Given the description of an element on the screen output the (x, y) to click on. 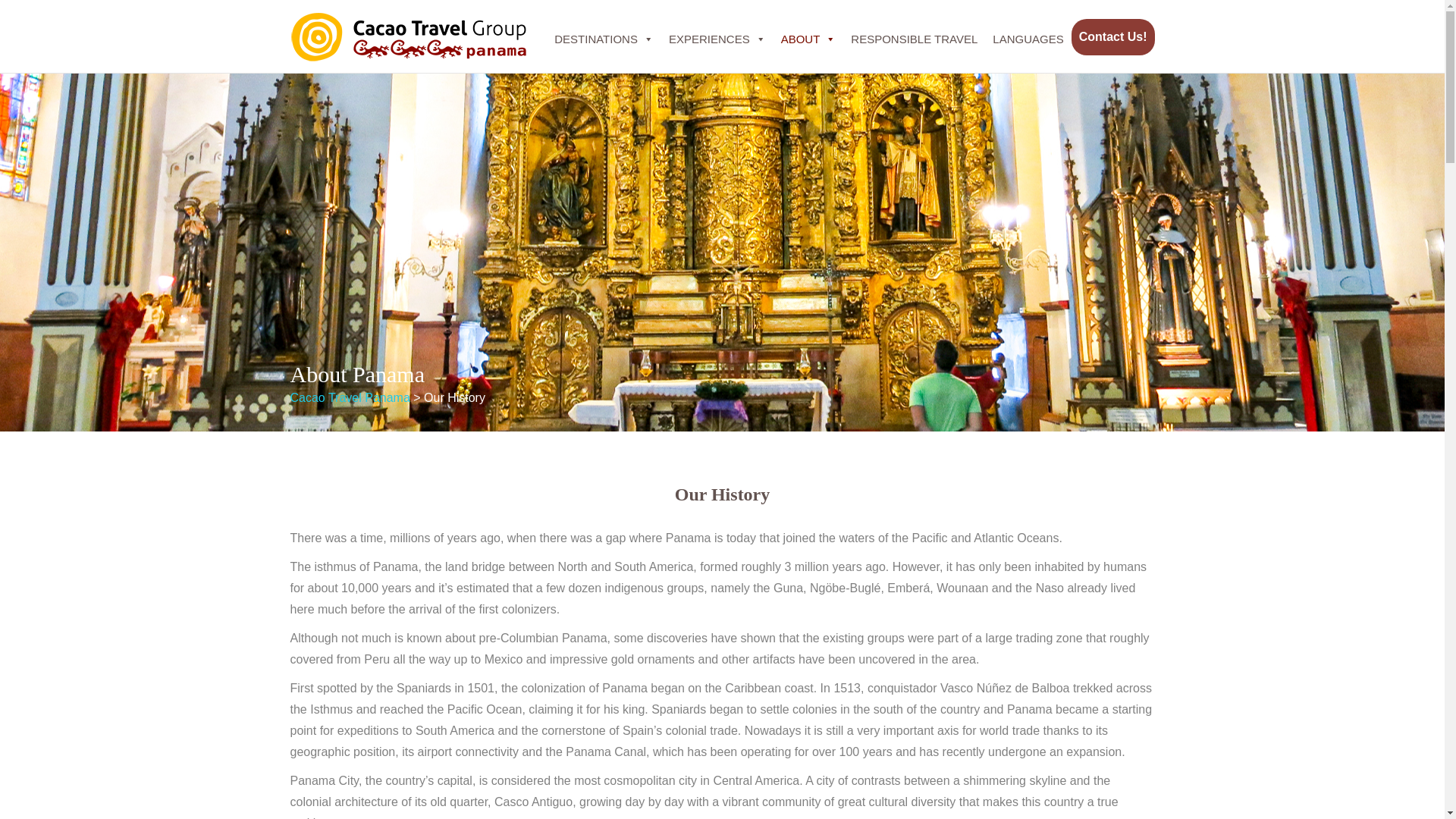
RESPONSIBLE TRAVEL (914, 39)
Go to Cacao Travel Panama. (349, 397)
Cacao Travel Panama (349, 397)
EXPERIENCES (717, 39)
Contact Us! (1112, 36)
Contact Us! (1112, 36)
DESTINATIONS (604, 39)
LANGUAGES (1027, 39)
ABOUT (808, 39)
